Given the description of an element on the screen output the (x, y) to click on. 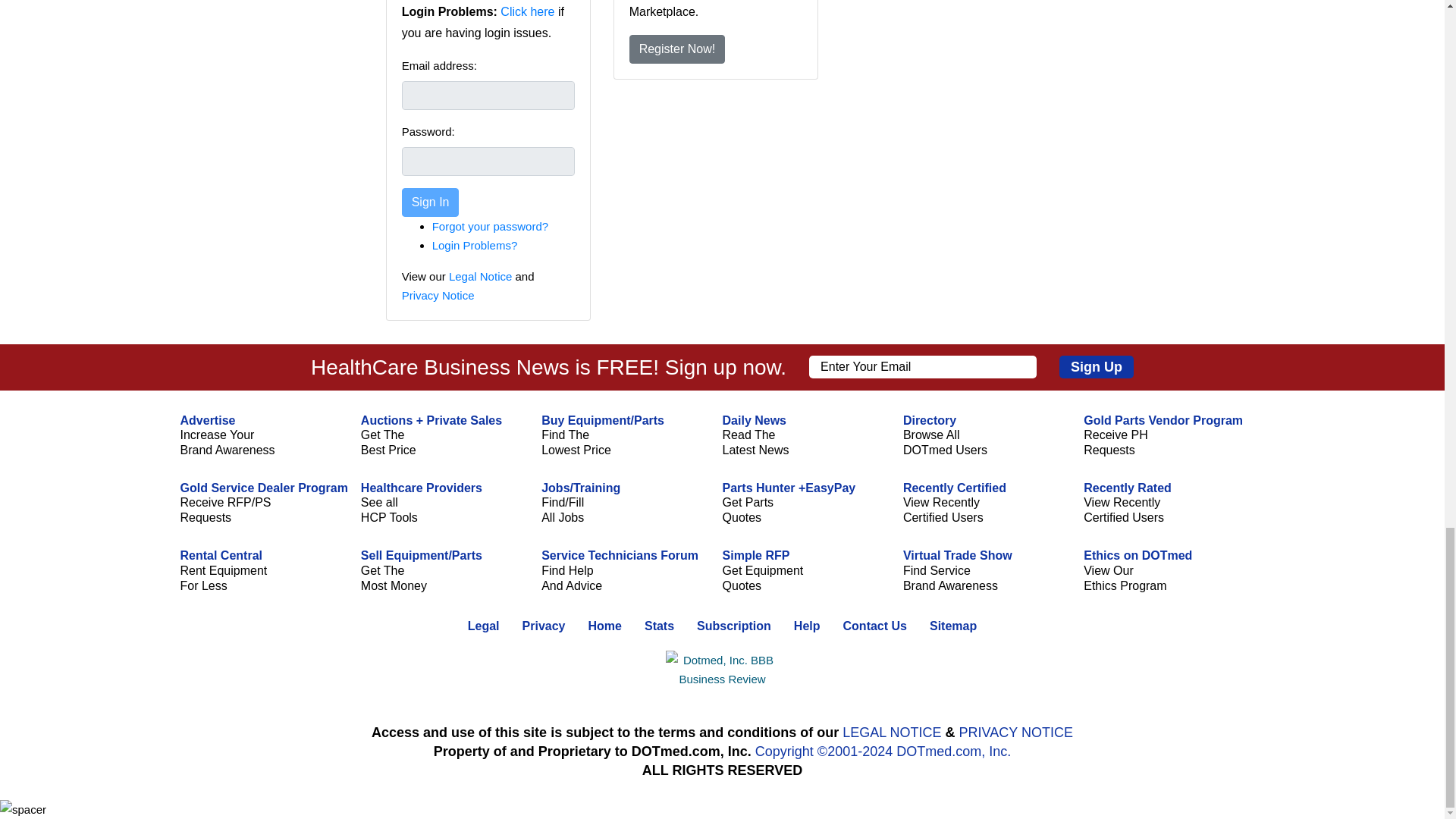
Register Now! (676, 49)
Login Problems? (475, 244)
Sign In (430, 202)
Forget your password? (490, 226)
